Given the description of an element on the screen output the (x, y) to click on. 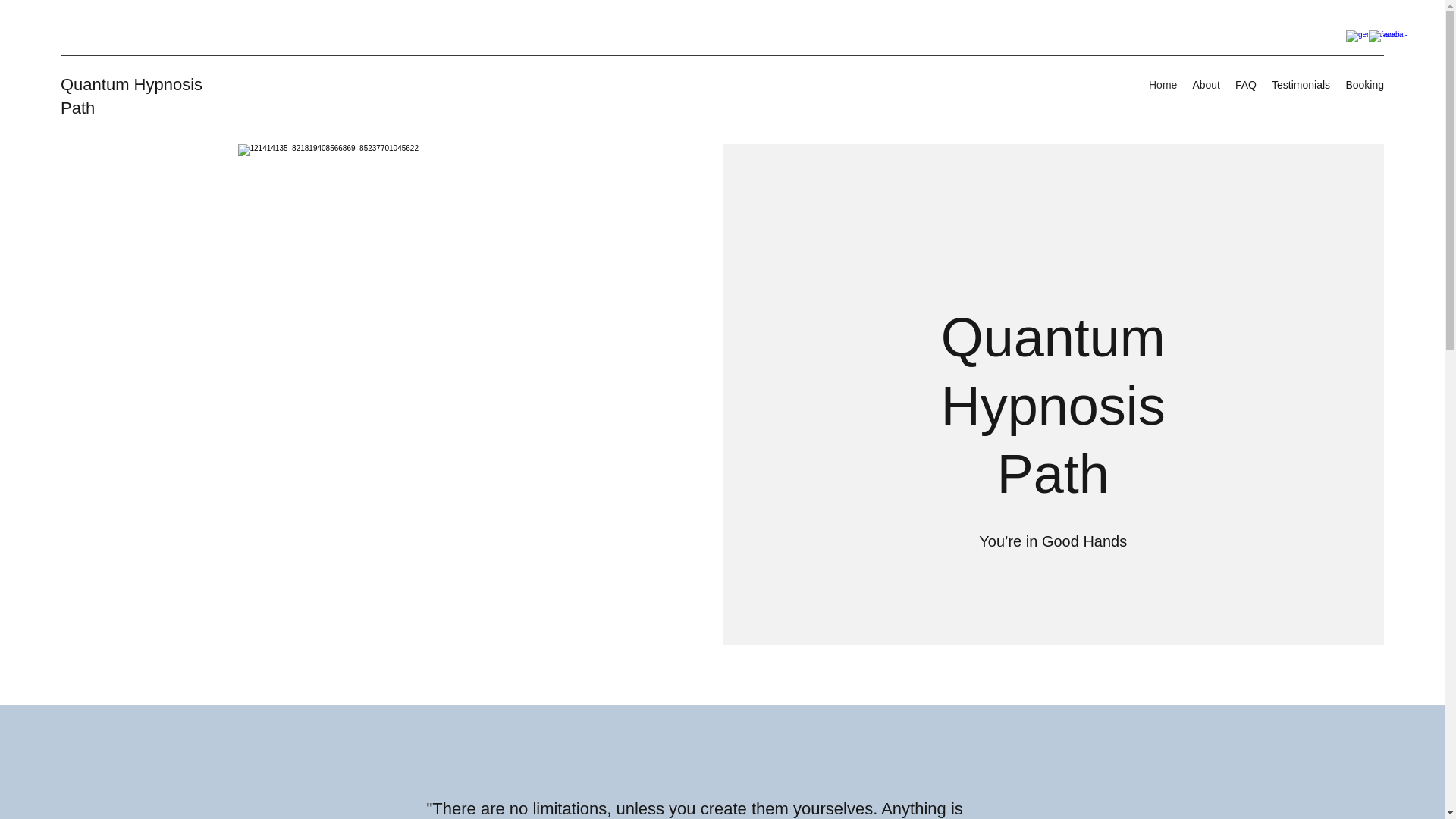
FAQ (1245, 84)
Home (1163, 84)
Quantum Hypnosis Path (131, 96)
Booking (1364, 84)
Testimonials (1300, 84)
About (1206, 84)
